Given the description of an element on the screen output the (x, y) to click on. 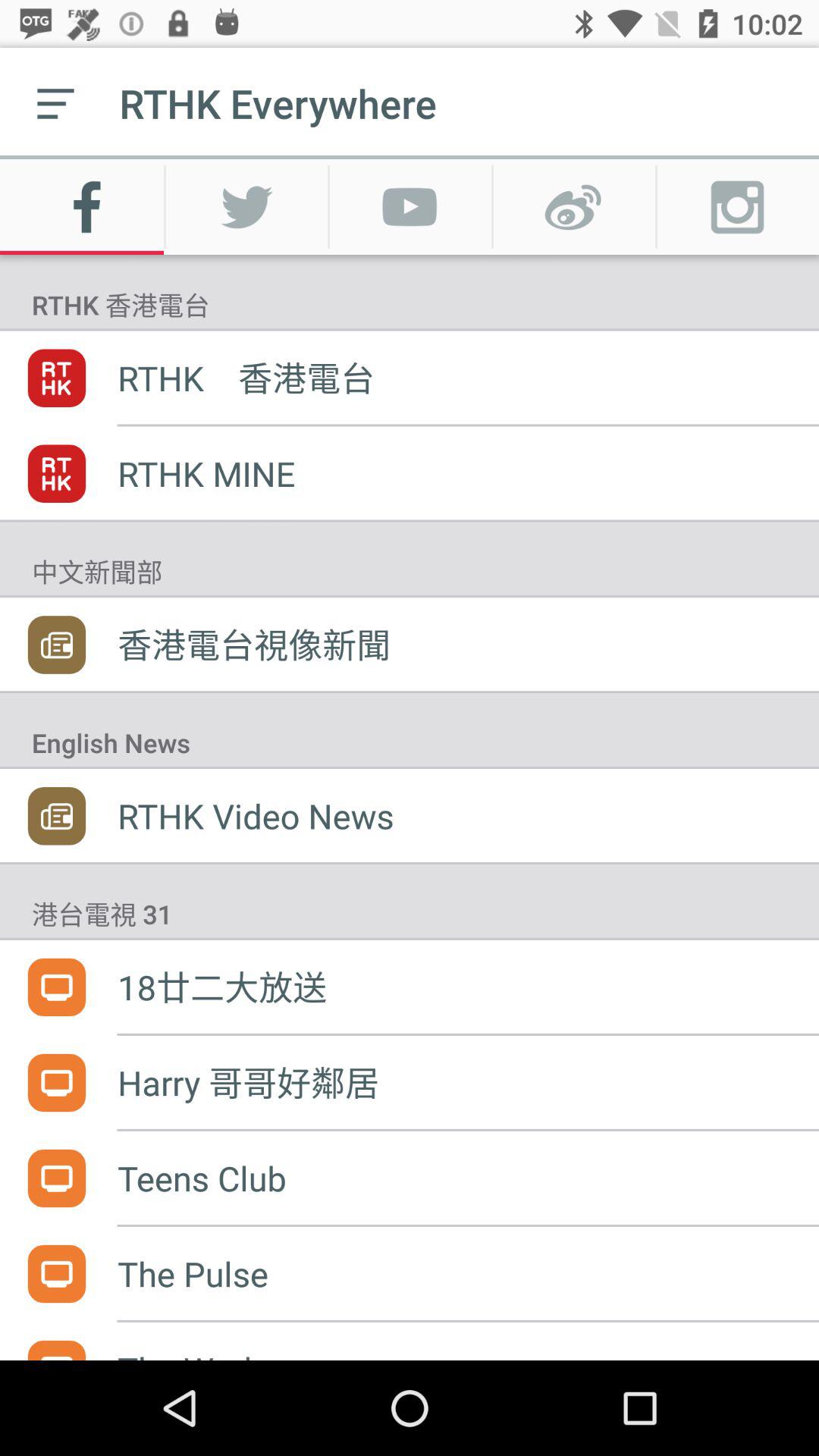
launch the item next to the rthk everywhere app (55, 103)
